Given the description of an element on the screen output the (x, y) to click on. 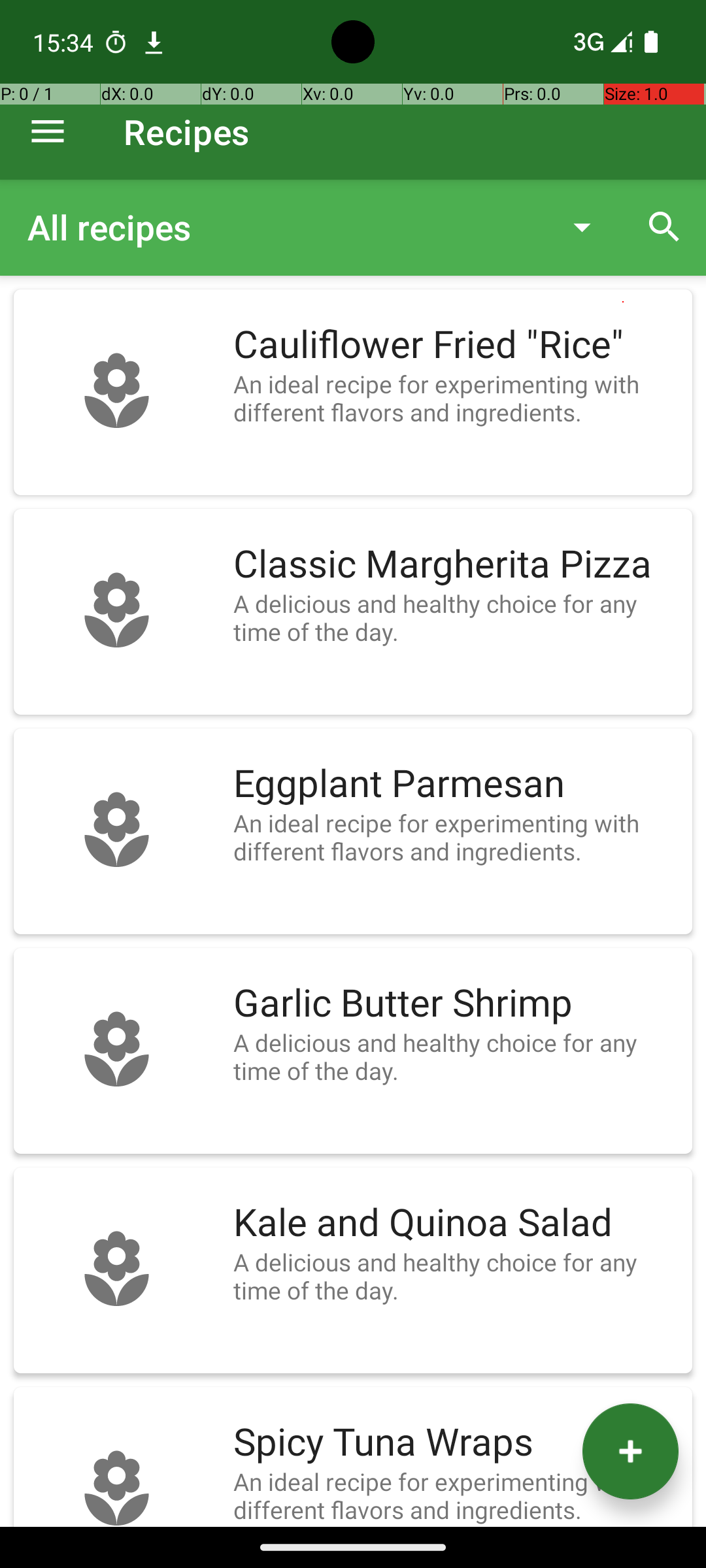
Spicy Tuna Wraps Element type: android.widget.TextView (455, 1442)
